Given the description of an element on the screen output the (x, y) to click on. 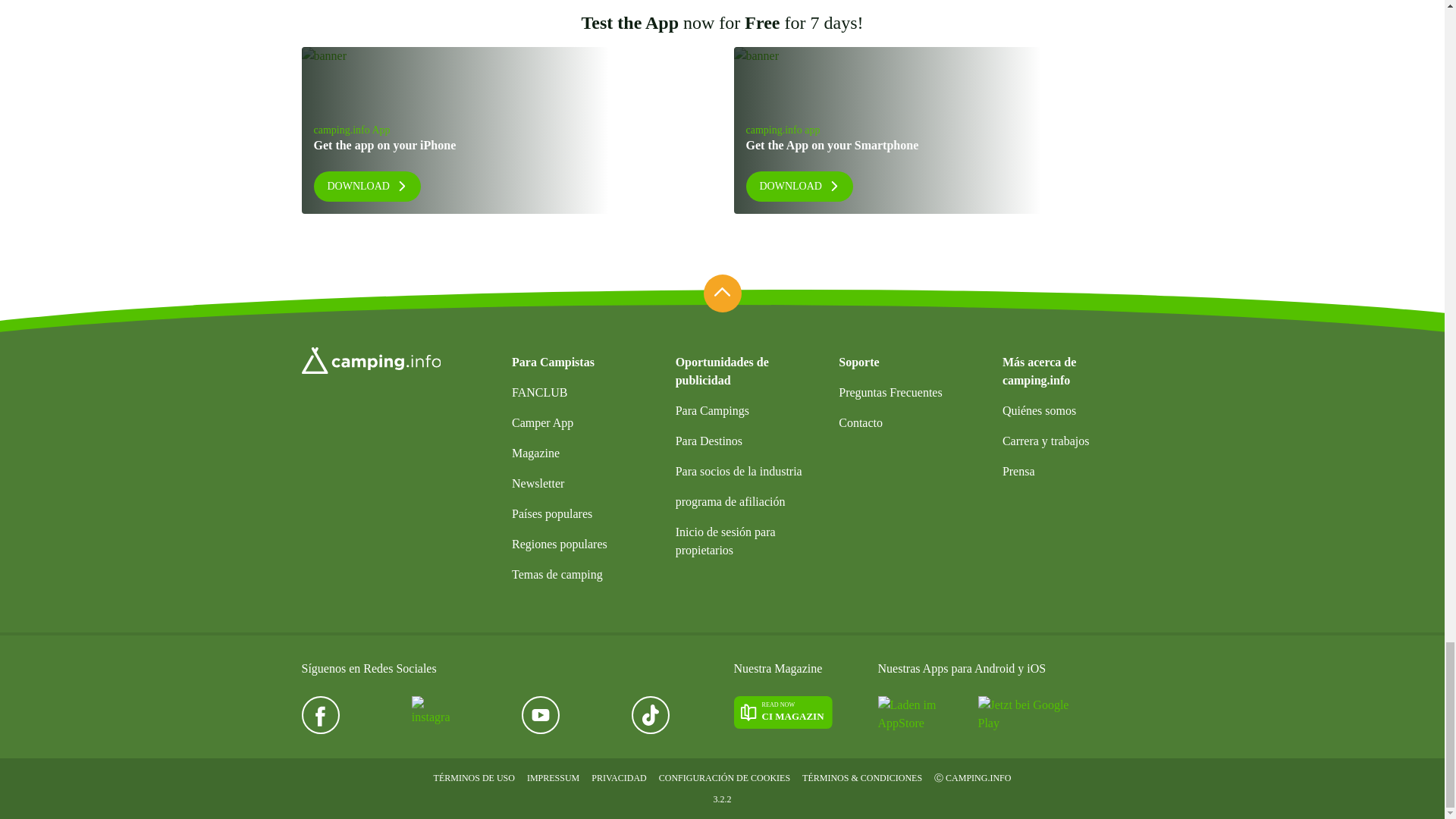
Para socios de la industria (745, 471)
Para Campings (745, 410)
Jetzt bei Google Play (1023, 714)
Magazine (937, 129)
Newsletter (782, 712)
Prensa (582, 483)
Para Destinos (1072, 471)
Regiones populares (745, 440)
Magazine (582, 544)
